Given the description of an element on the screen output the (x, y) to click on. 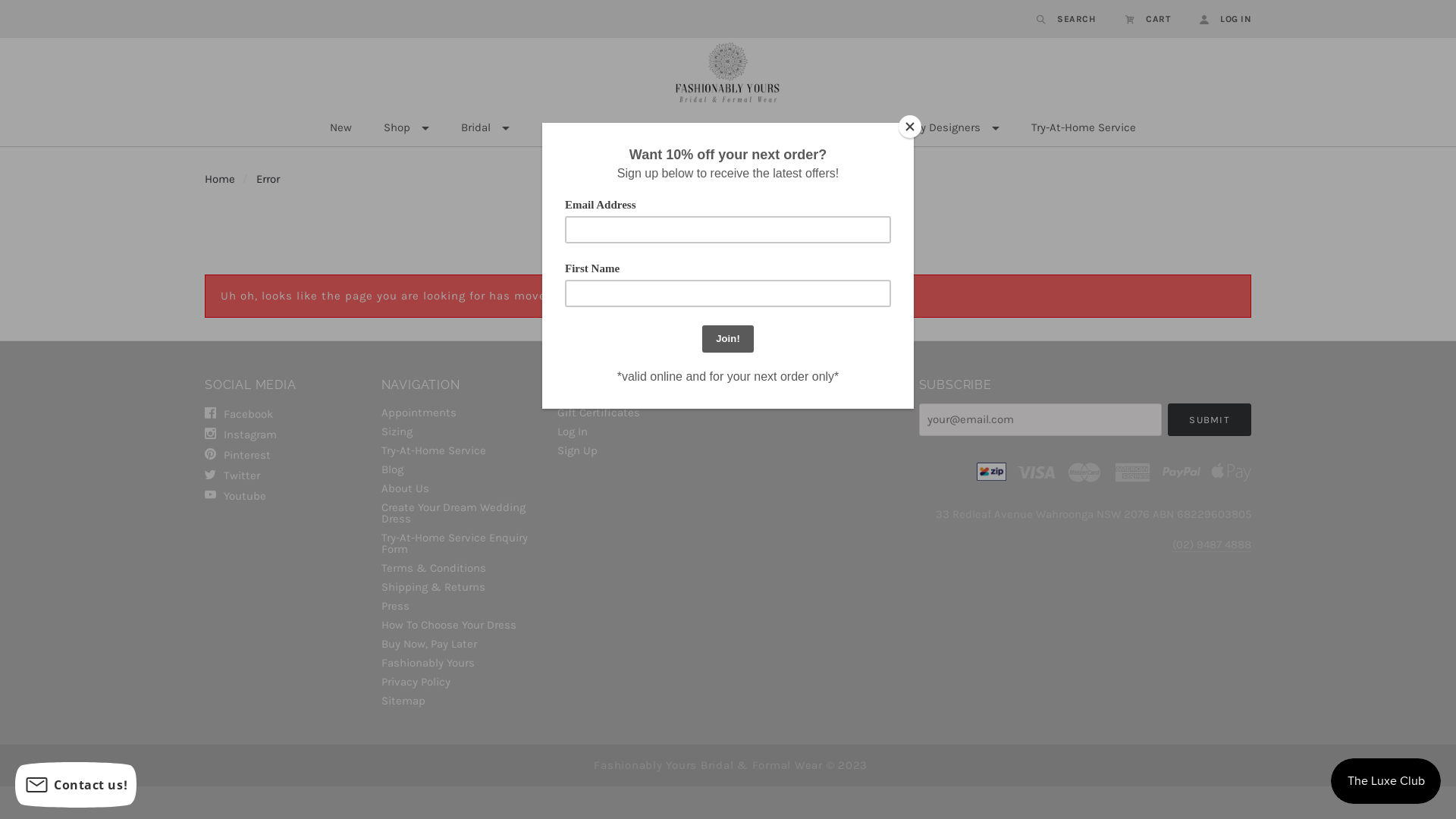
Home Element type: text (219, 178)
Bridal Element type: text (484, 127)
School Formal & Evening Dresses Element type: text (754, 127)
Youtube Element type: text (284, 493)
Buy Now, Pay Later Element type: text (461, 643)
Smile.io Rewards Program Launcher Element type: hover (1385, 780)
Blog Element type: text (461, 469)
Terms & Conditions Element type: text (461, 567)
New Element type: text (340, 127)
How To Choose Your Dress Element type: text (461, 624)
Bridesmaids Element type: text (582, 127)
Shipping & Returns Element type: text (461, 586)
SEARCH Element type: text (1065, 18)
Try-At-Home Service Element type: text (1082, 127)
About Us Element type: text (461, 488)
Submit Element type: text (1209, 419)
Log In Element type: text (637, 431)
Error Element type: text (267, 178)
Twitter Element type: text (284, 474)
CART Element type: text (1147, 18)
Fashionably Yours Element type: text (461, 662)
Try-At-Home Service Element type: text (461, 450)
Shop by Designers Element type: text (941, 127)
Facebook Element type: text (284, 413)
Press Element type: text (461, 605)
Instagram Element type: text (284, 433)
Sizing Element type: text (461, 431)
Appointments Element type: text (461, 412)
Sitemap Element type: text (461, 698)
LOG IN Element type: text (1217, 18)
Try-At-Home Service Enquiry Form Element type: text (461, 543)
Sign Up Element type: text (637, 448)
Create Your Dream Wedding Dress Element type: text (461, 513)
Gift Certificates Element type: text (637, 412)
Privacy Policy Element type: text (461, 681)
Pinterest Element type: text (284, 454)
Shop Element type: text (405, 127)
(02) 9487 4888 Element type: text (1211, 544)
Contact us! Element type: text (75, 784)
